Given the description of an element on the screen output the (x, y) to click on. 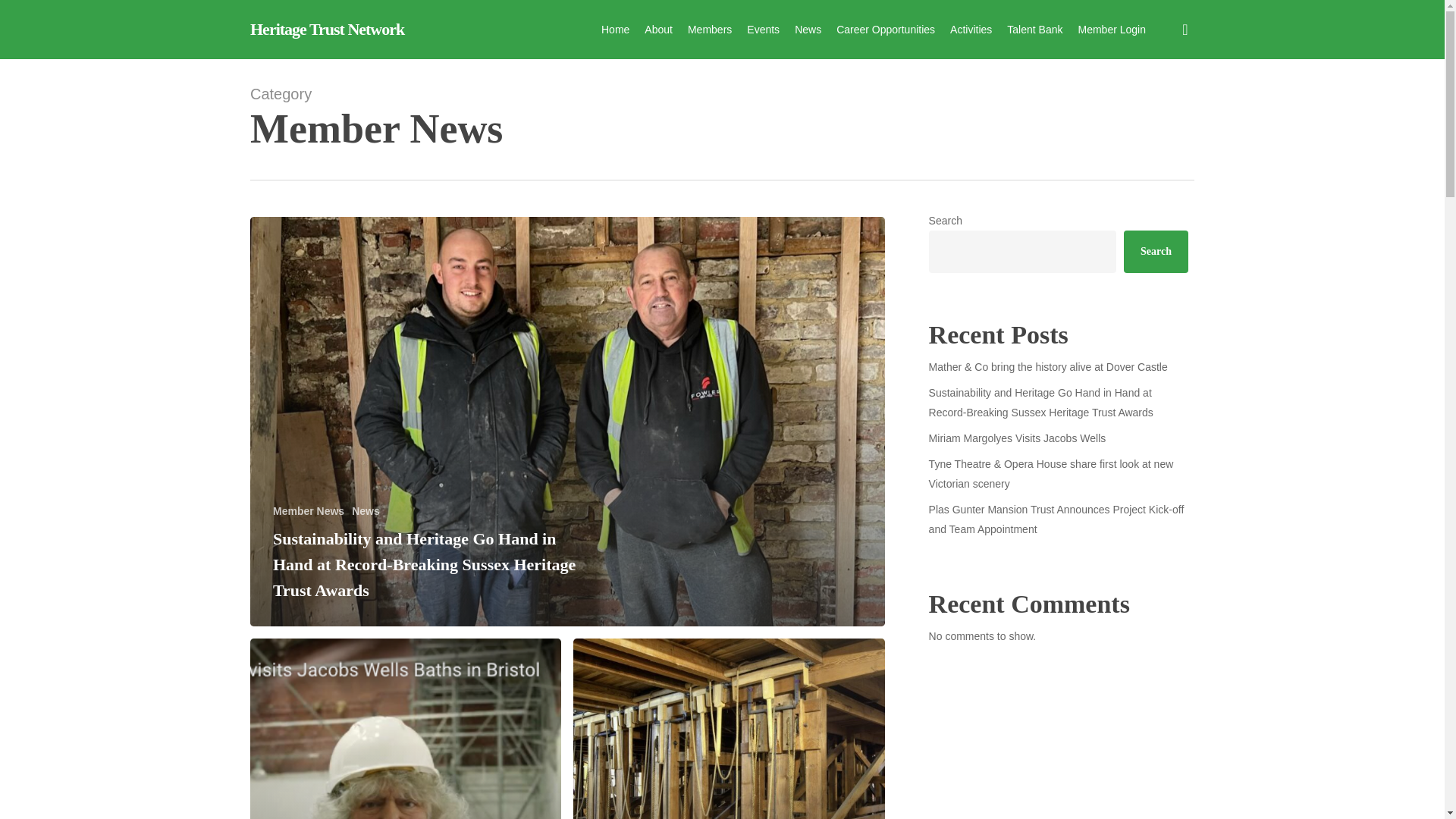
News (807, 29)
Members (709, 29)
Home (614, 29)
Member Login (1112, 29)
Talent Bank (1034, 29)
Career Opportunities (884, 29)
About (658, 29)
Heritage Trust Network (327, 29)
Activities (970, 29)
Member News (308, 511)
search (1184, 28)
Events (762, 29)
News (366, 511)
